Given the description of an element on the screen output the (x, y) to click on. 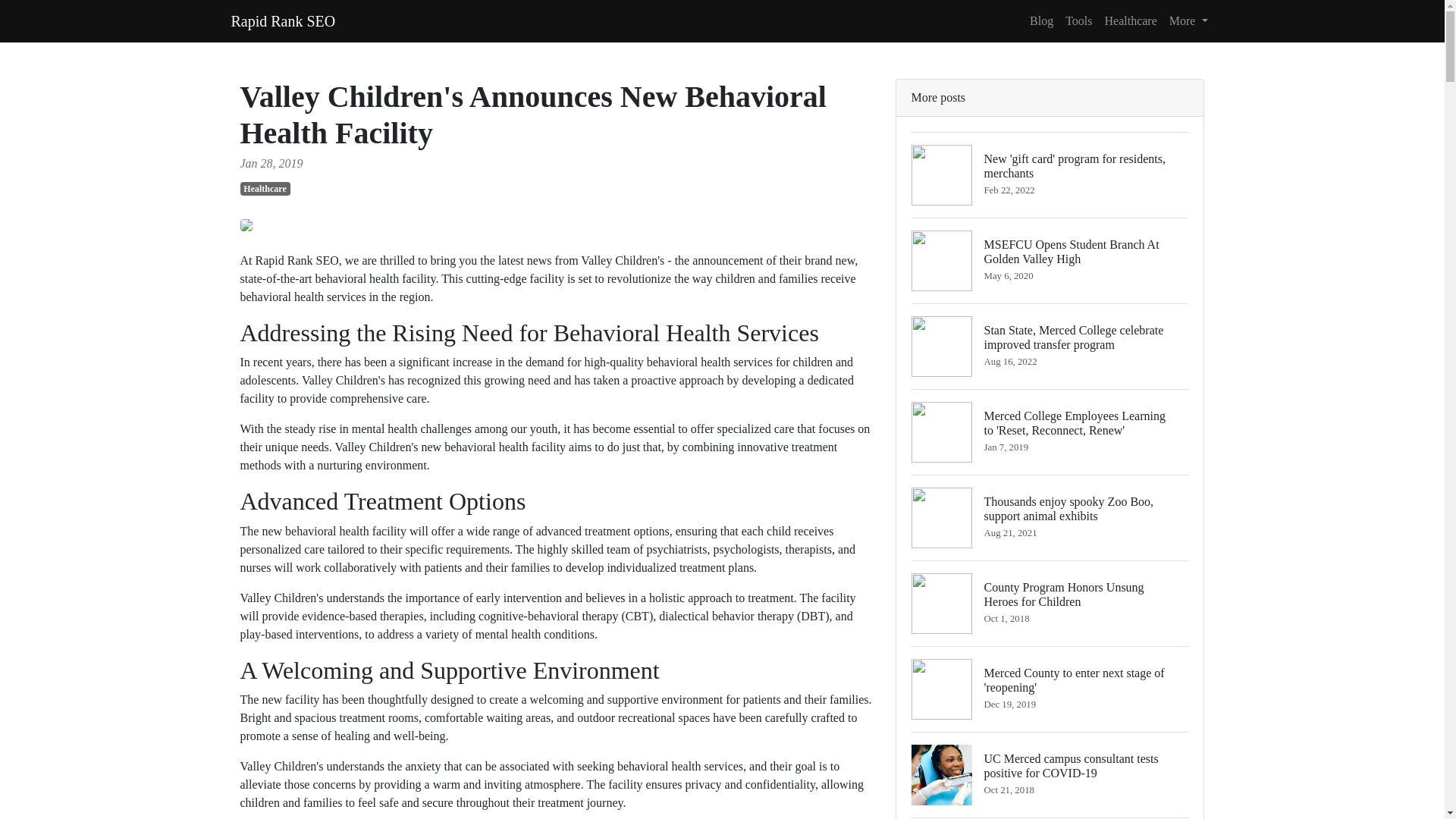
Healthcare (264, 188)
Tools (1078, 20)
Healthcare (1050, 603)
More (1129, 20)
Rapid Rank SEO (1188, 20)
Blog (282, 20)
